Given the description of an element on the screen output the (x, y) to click on. 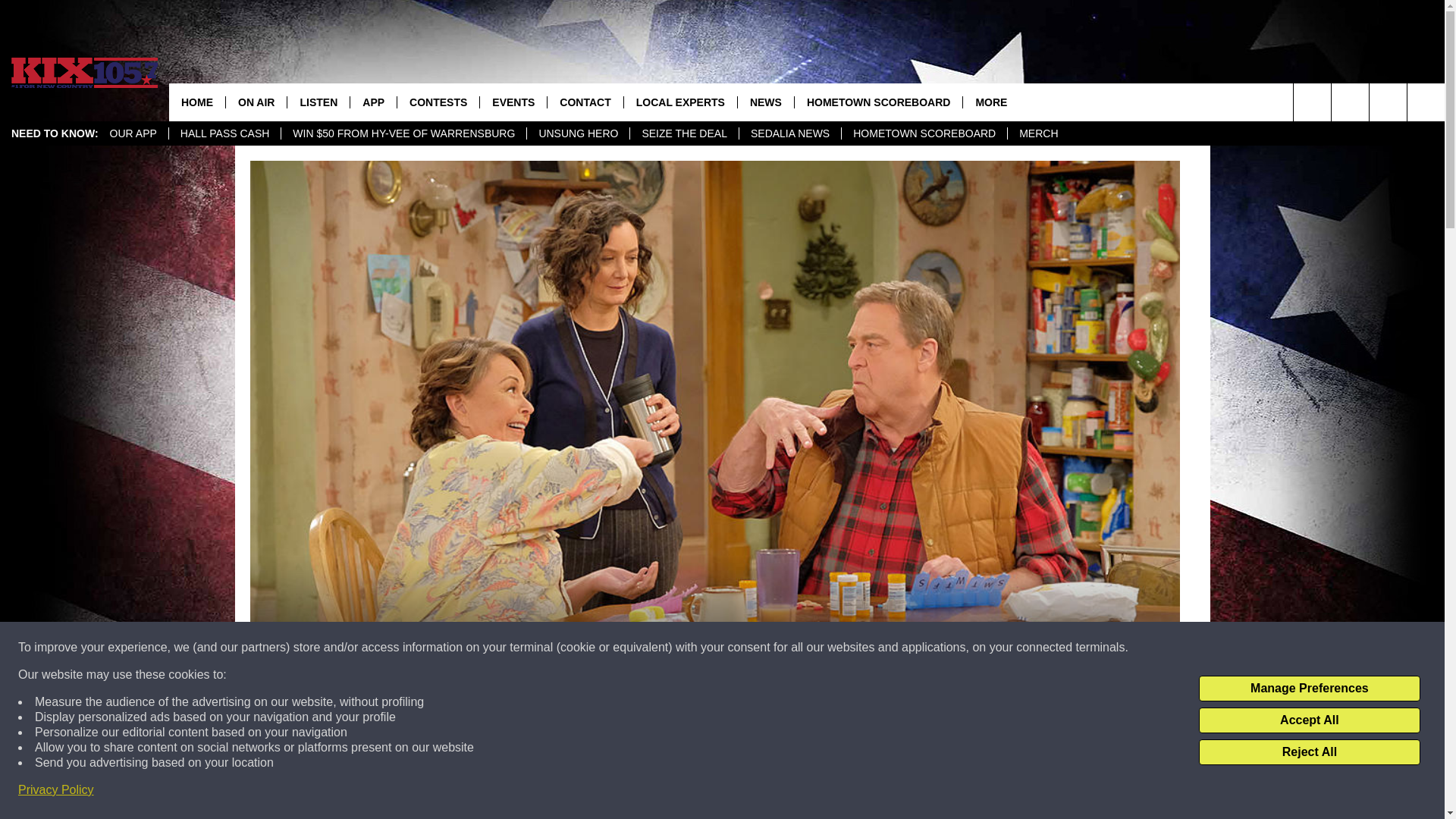
ON AIR (255, 102)
Privacy Policy (55, 789)
Manage Preferences (1309, 688)
SEDALIA NEWS (789, 133)
HOMETOWN SCOREBOARD (924, 133)
CONTESTS (437, 102)
MERCH (1037, 133)
HALL PASS CASH (224, 133)
UNSUNG HERO (576, 133)
SEIZE THE DEAL (683, 133)
APP (372, 102)
OUR APP (133, 133)
Reject All (1309, 751)
Share on Facebook (517, 791)
LISTEN (317, 102)
